Given the description of an element on the screen output the (x, y) to click on. 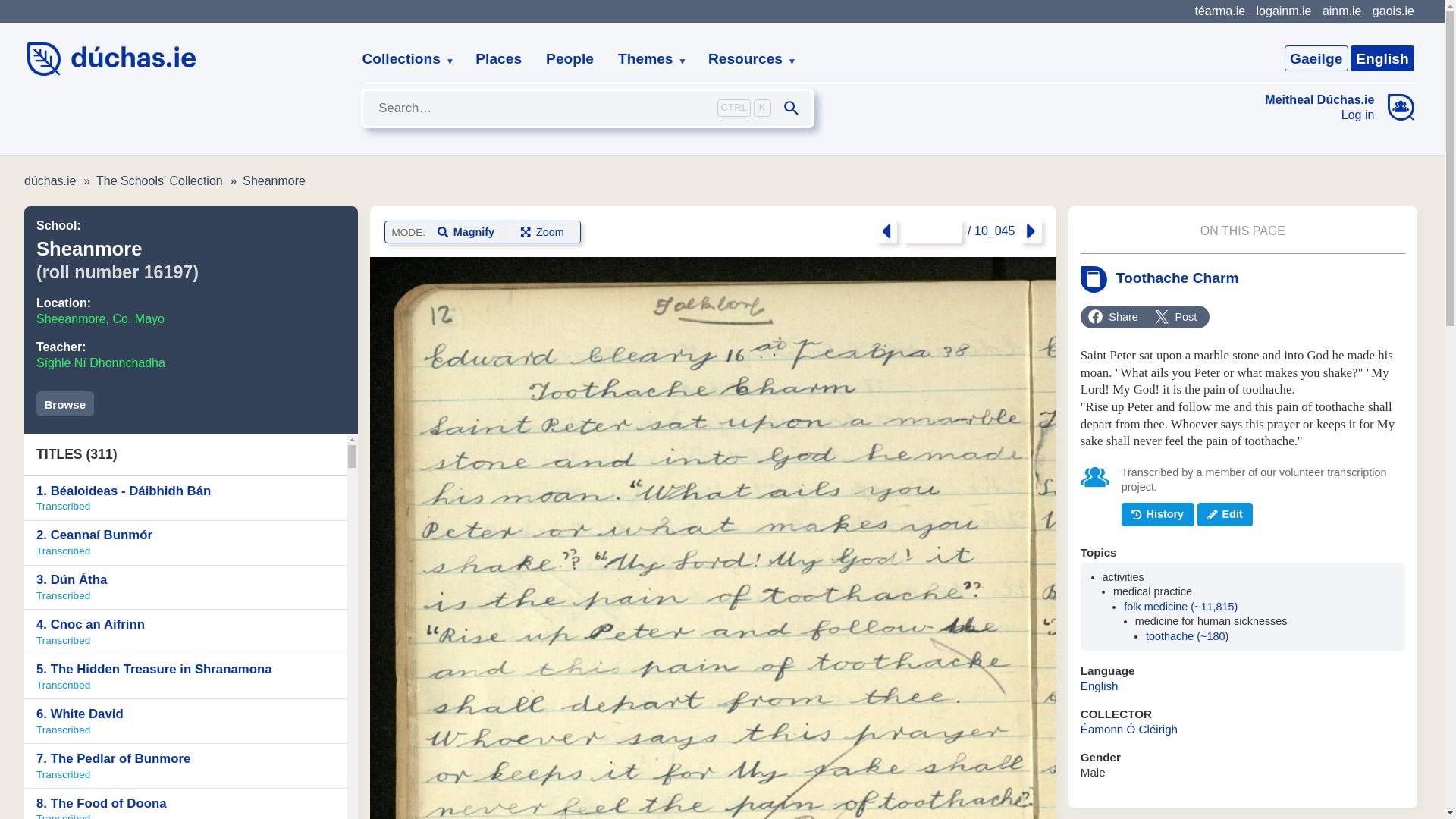
ainm.ie (1341, 11)
Resources (745, 59)
Sheanmore (274, 180)
The Schools' Collection (159, 180)
gaois.ie (1393, 11)
Log in (1319, 114)
Gaeilge (1316, 58)
Themes (646, 59)
Collections (401, 59)
People (569, 58)
Browse (65, 403)
Places (498, 58)
English (1382, 58)
logainm.ie (1283, 11)
Sheeanmore, Co. Mayo (100, 318)
